Given the description of an element on the screen output the (x, y) to click on. 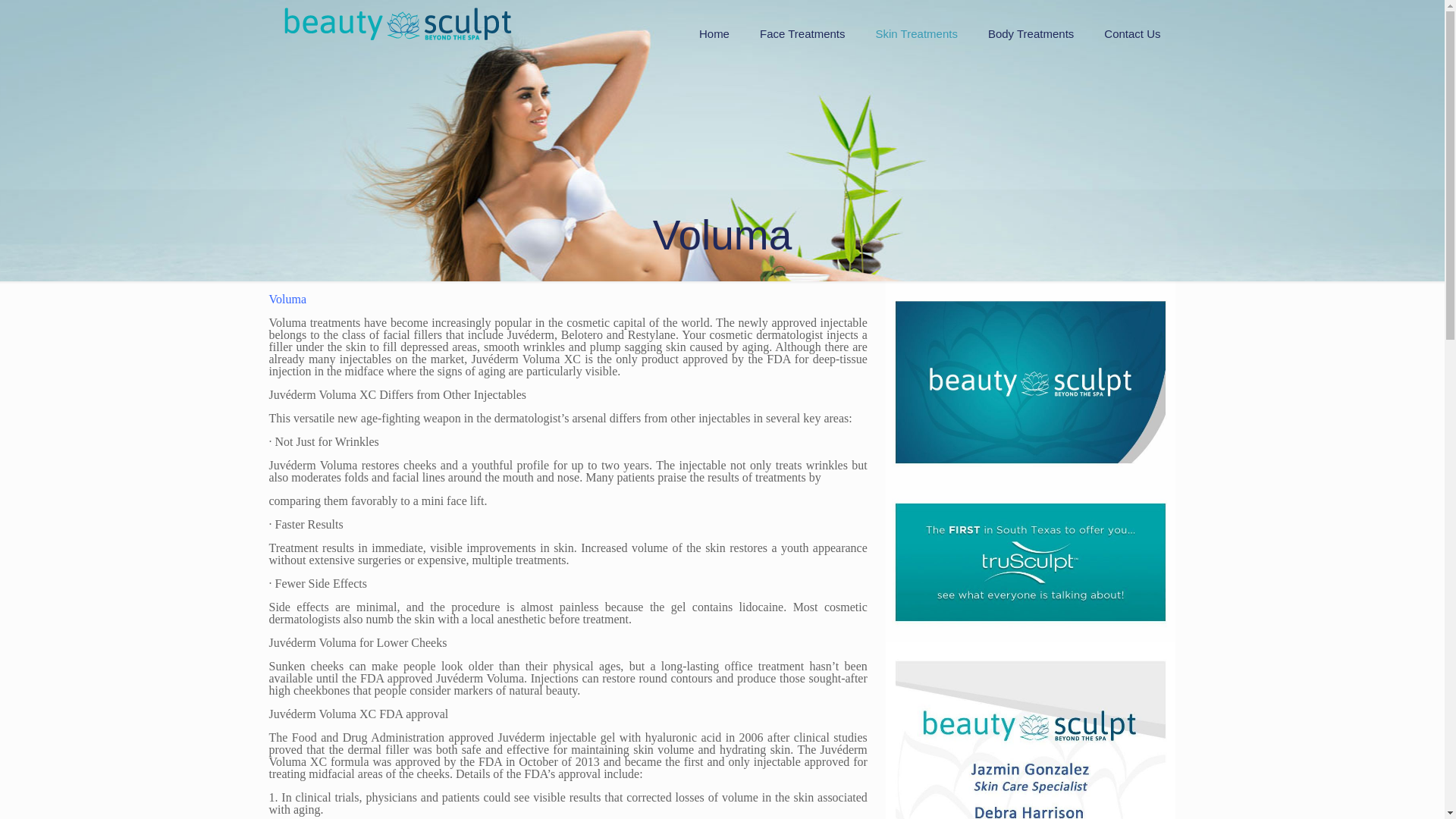
Body Treatments (1030, 33)
Home (714, 33)
Face Treatments (802, 33)
BeautySculptSpa (397, 22)
Skin Treatments (916, 33)
Contact Us (1131, 33)
